Given the description of an element on the screen output the (x, y) to click on. 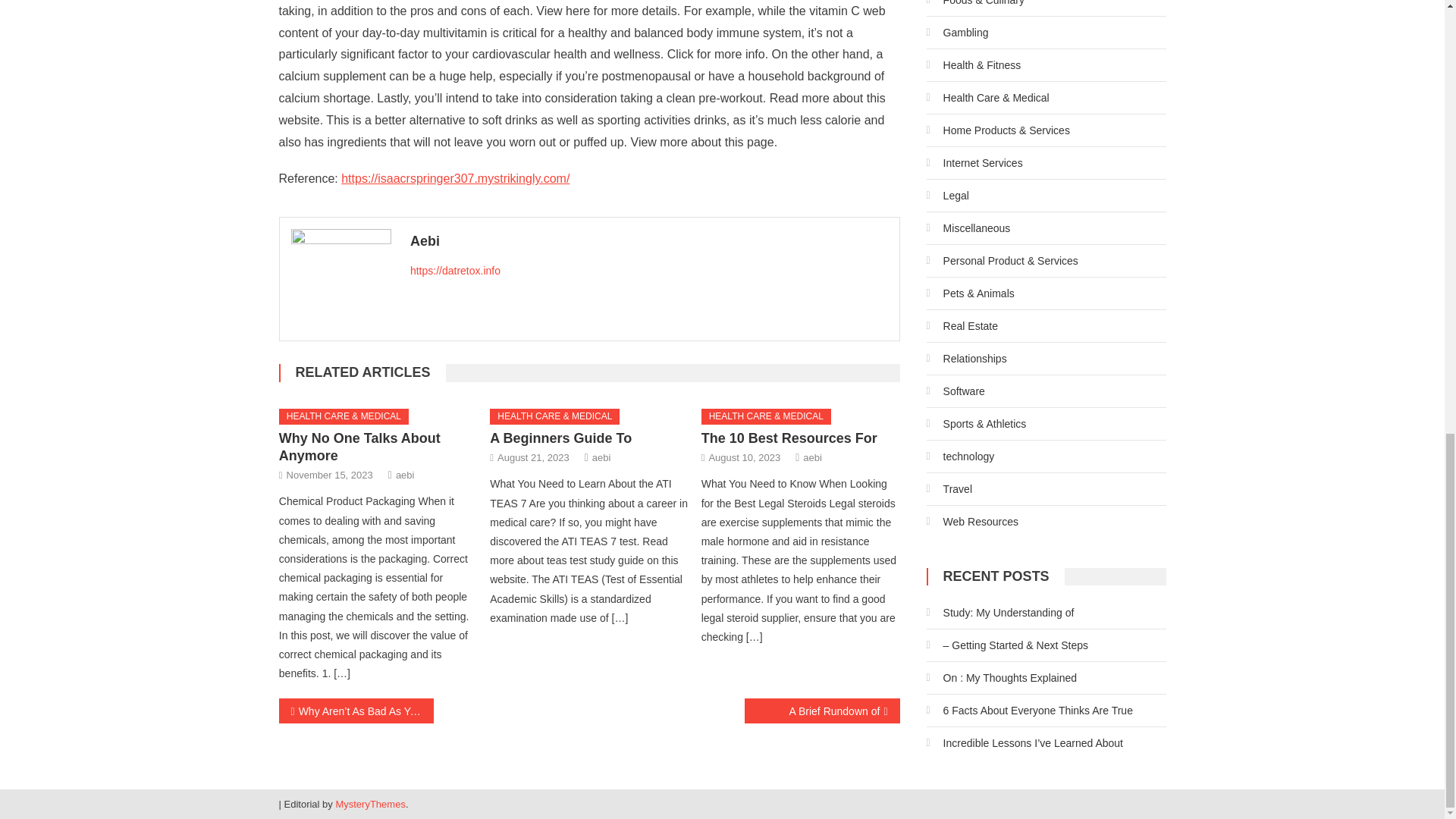
August 10, 2023 (743, 457)
A Beginners Guide To (560, 437)
aebi (601, 457)
A Brief Rundown of (821, 710)
aebi (405, 475)
August 21, 2023 (533, 457)
Why No One Talks About Anymore (360, 446)
Aebi (649, 241)
aebi (812, 457)
The 10 Best Resources For (789, 437)
November 15, 2023 (329, 475)
